Given the description of an element on the screen output the (x, y) to click on. 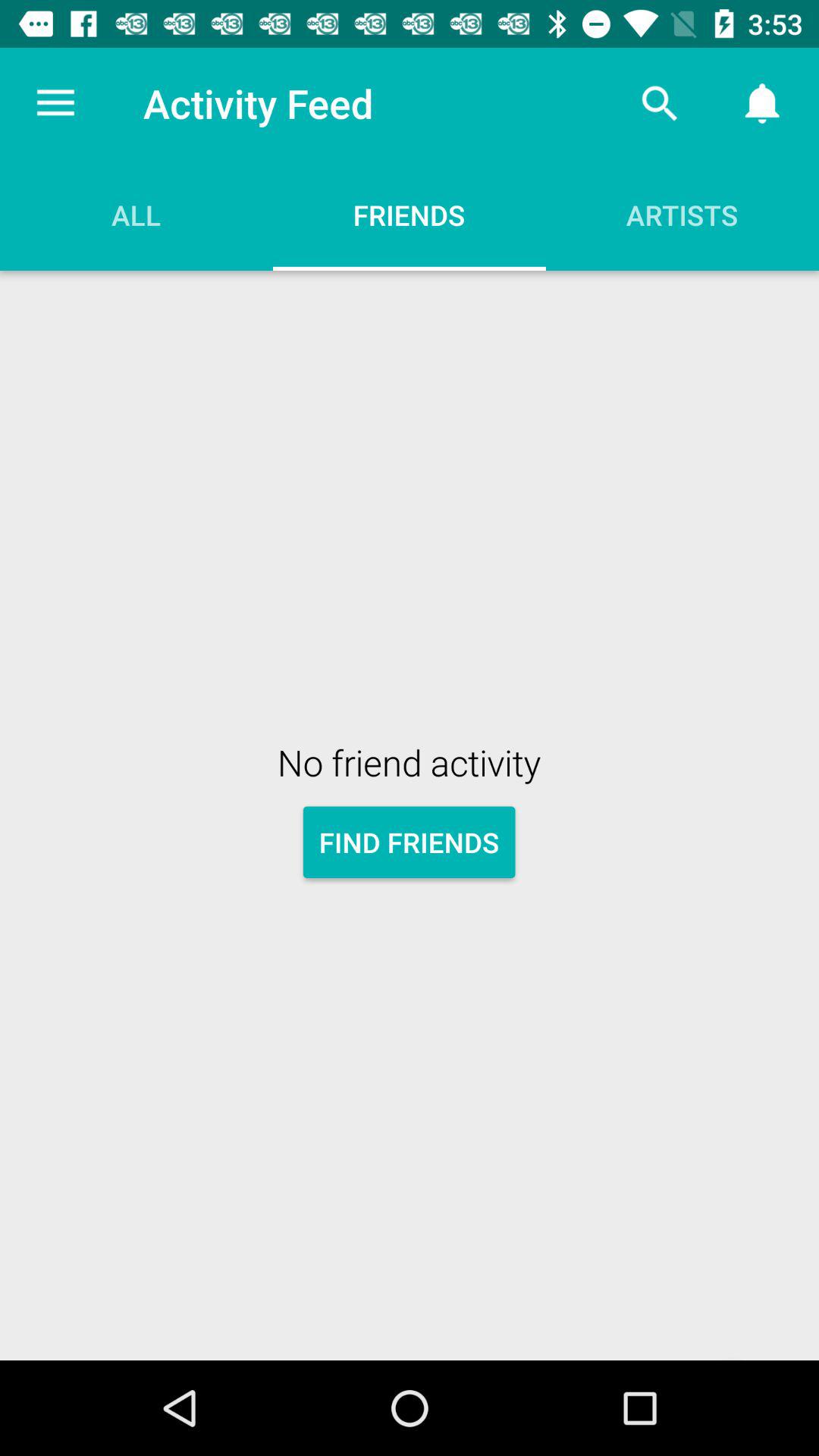
select the icon above the artists (659, 103)
